Given the description of an element on the screen output the (x, y) to click on. 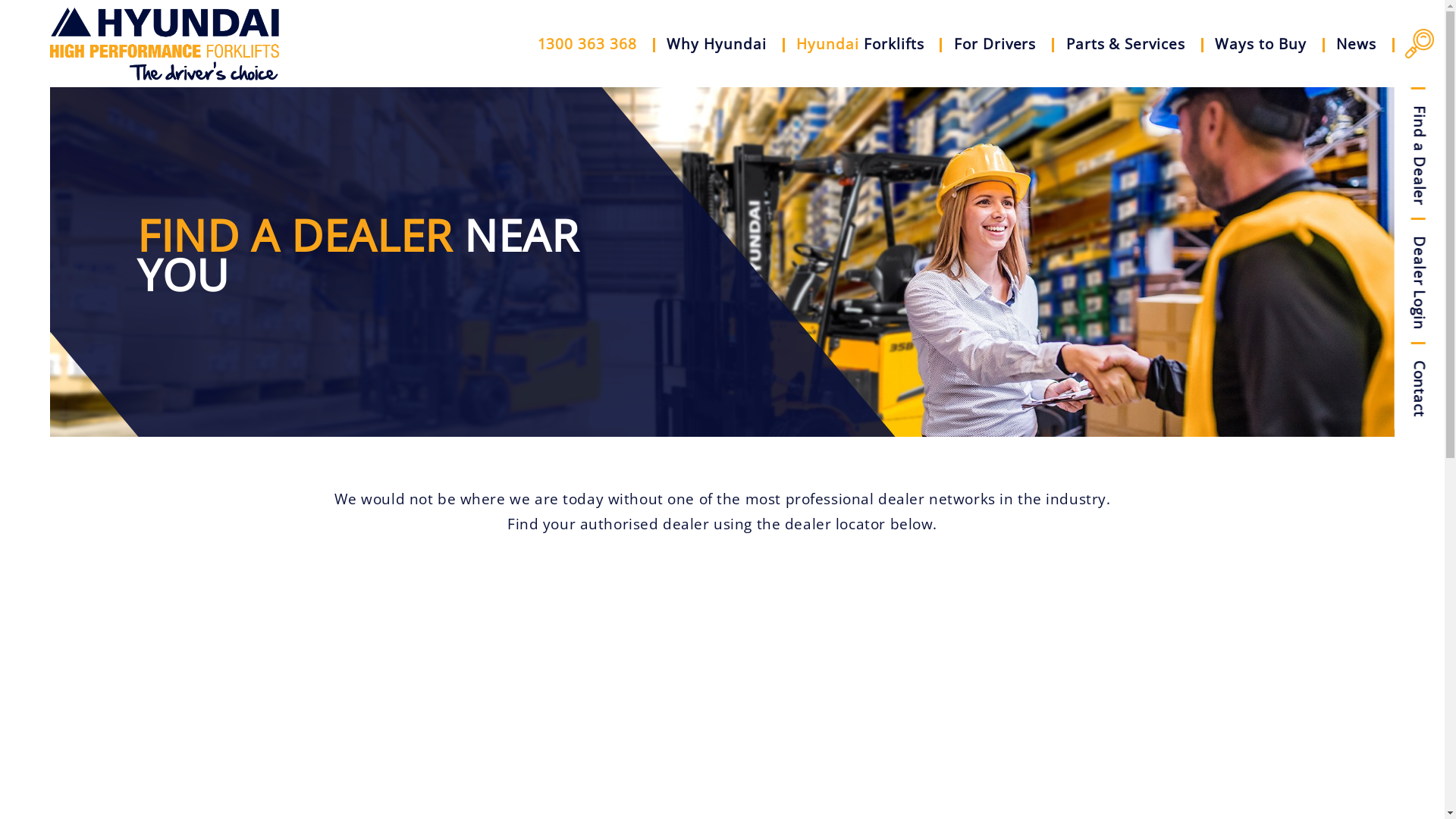
Hyundai Forklifts Element type: text (859, 43)
Why Hyundai Element type: text (716, 43)
1300 363 368 Element type: text (586, 43)
Parts & Services Element type: text (1125, 43)
News Element type: text (1356, 43)
For Drivers Element type: text (994, 43)
Ways to Buy Element type: text (1260, 43)
